Given the description of an element on the screen output the (x, y) to click on. 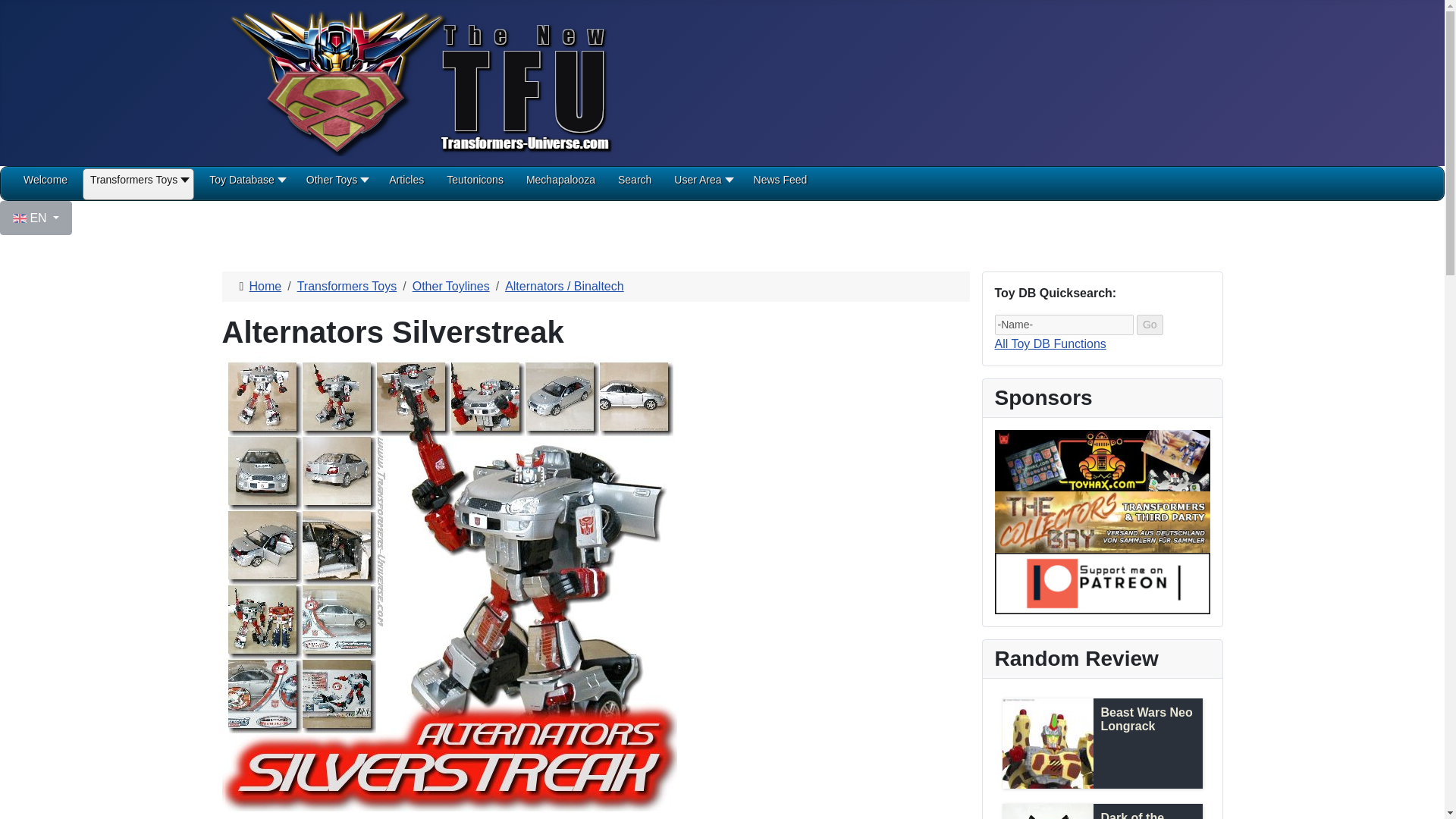
Go (1150, 324)
Welcome (44, 184)
Transformers Toys (138, 184)
-Name- (1064, 324)
